Given the description of an element on the screen output the (x, y) to click on. 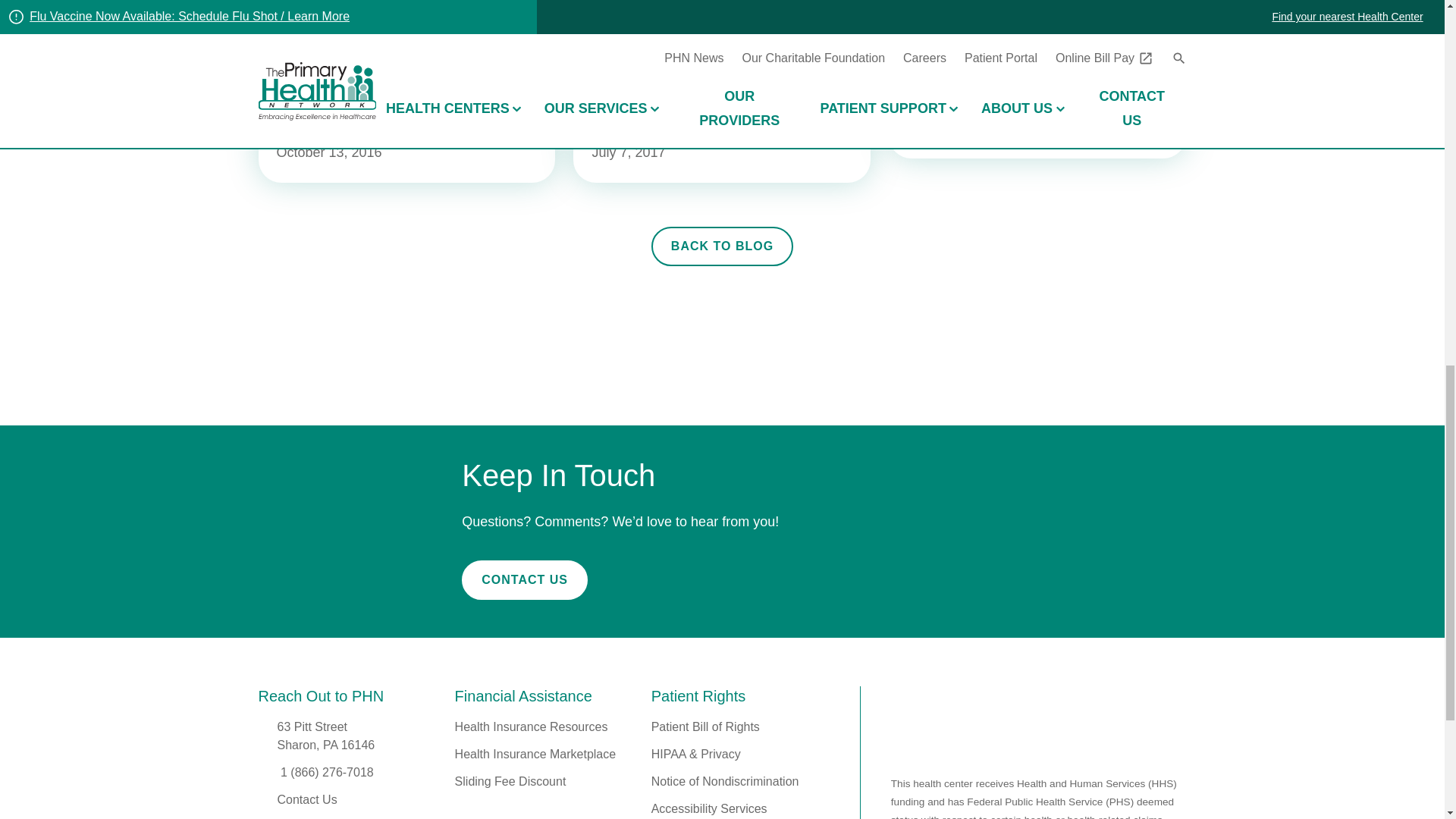
Share on Facebook (1079, 4)
Share on LinkedIn (1164, 4)
Tweet (1121, 4)
